Given the description of an element on the screen output the (x, y) to click on. 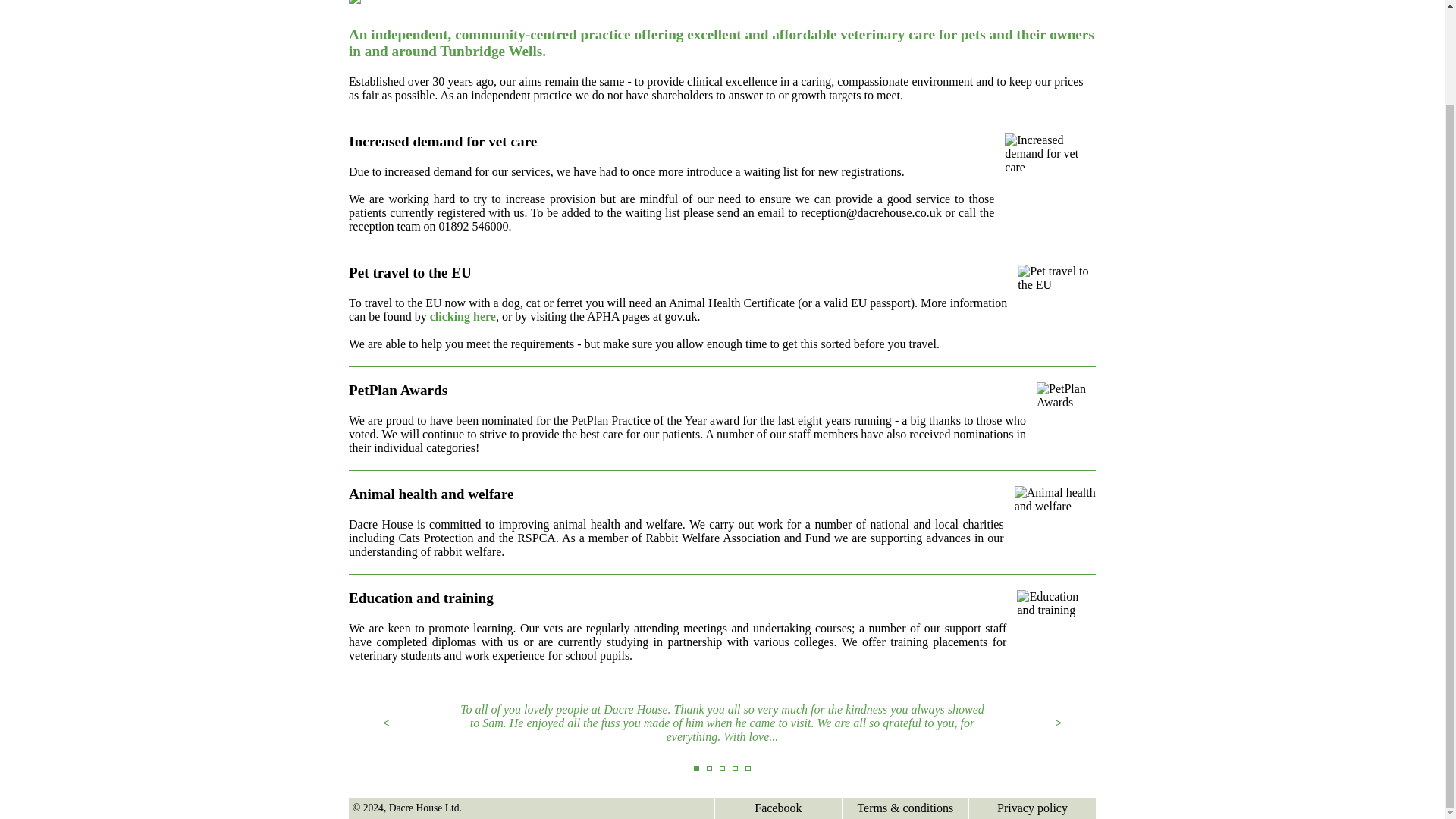
Privacy policy (1032, 807)
Facebook (778, 807)
clicking here (462, 316)
